Given the description of an element on the screen output the (x, y) to click on. 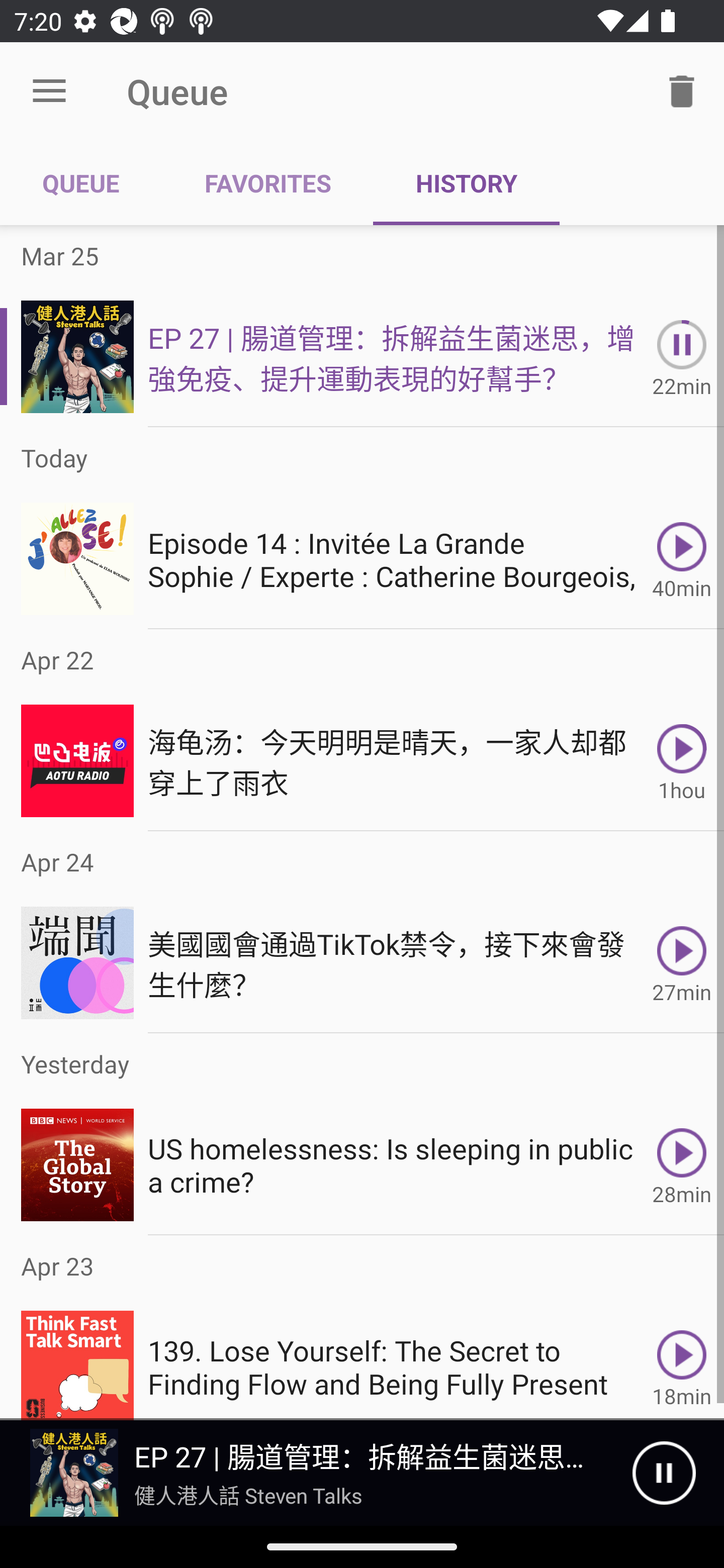
Open menu (49, 91)
Clear History (681, 90)
QUEUE (81, 183)
FAVORITES (267, 183)
HISTORY (465, 183)
Play 22min (681, 356)
Play 40min (681, 558)
Apr 22 海龟汤：今天明明是晴天，一家人却都穿上了雨衣 Play 1hou (362, 729)
Play 1hou (681, 760)
Apr 24 美國國會通過TikTok禁令，接下來會發生什麼？ Play 27min (362, 932)
Play 27min (681, 962)
Play 28min (681, 1164)
Play 18min (681, 1358)
Pause (663, 1472)
